Given the description of an element on the screen output the (x, y) to click on. 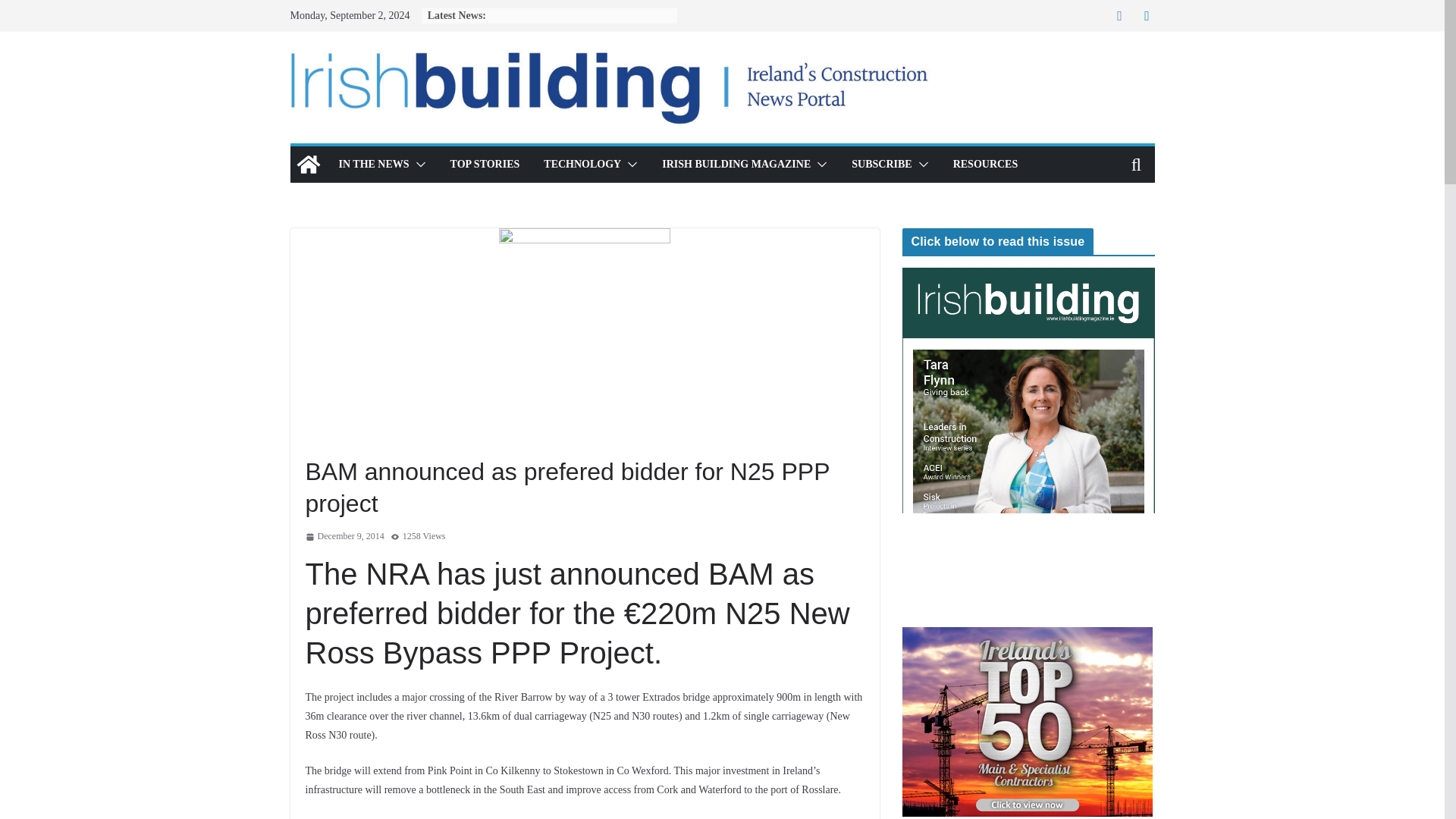
TECHNOLOGY (582, 164)
RESOURCES (985, 164)
SUBSCRIBE (881, 164)
IRISH BUILDING MAGAZINE (736, 164)
December 9, 2014 (344, 536)
Irish building magazine (307, 164)
IN THE NEWS (373, 164)
TOP STORIES (484, 164)
8:23 am (344, 536)
